Given the description of an element on the screen output the (x, y) to click on. 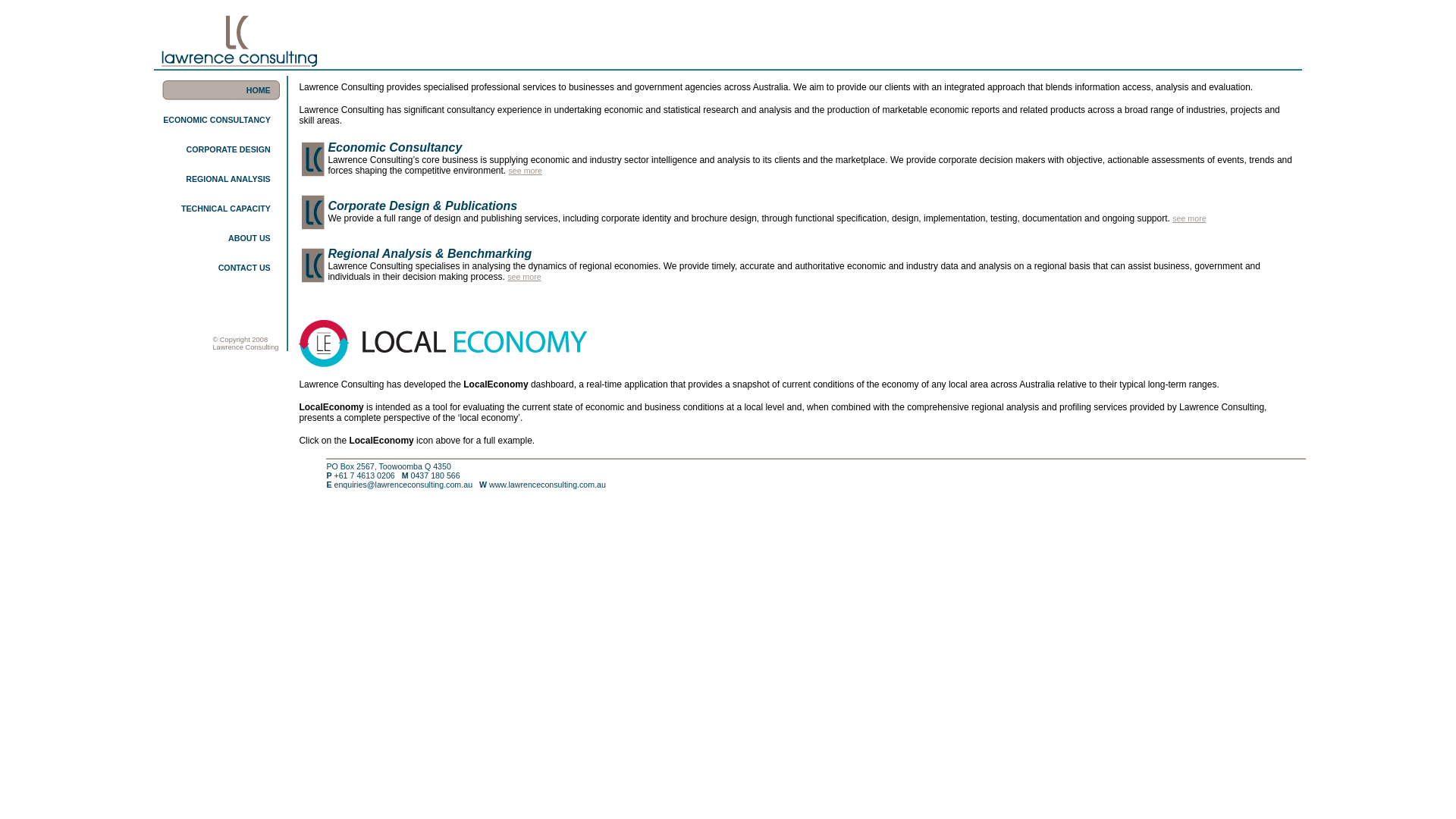
Corporate Design & Publications Element type: text (422, 205)
see more Element type: text (525, 170)
TECHNICAL CAPACITY Element type: text (225, 207)
see more Element type: text (1188, 217)
ECONOMIC CONSULTANCY Element type: text (216, 119)
HOME Element type: text (258, 89)
ABOUT US Element type: text (249, 237)
see more Element type: text (523, 276)
Economic Consultancy Element type: text (394, 147)
Regional Analysis & Benchmarking Element type: text (429, 253)
REGIONAL ANALYSIS Element type: text (227, 178)
CONTACT US Element type: text (244, 266)
CORPORATE DESIGN Element type: text (228, 148)
